Given the description of an element on the screen output the (x, y) to click on. 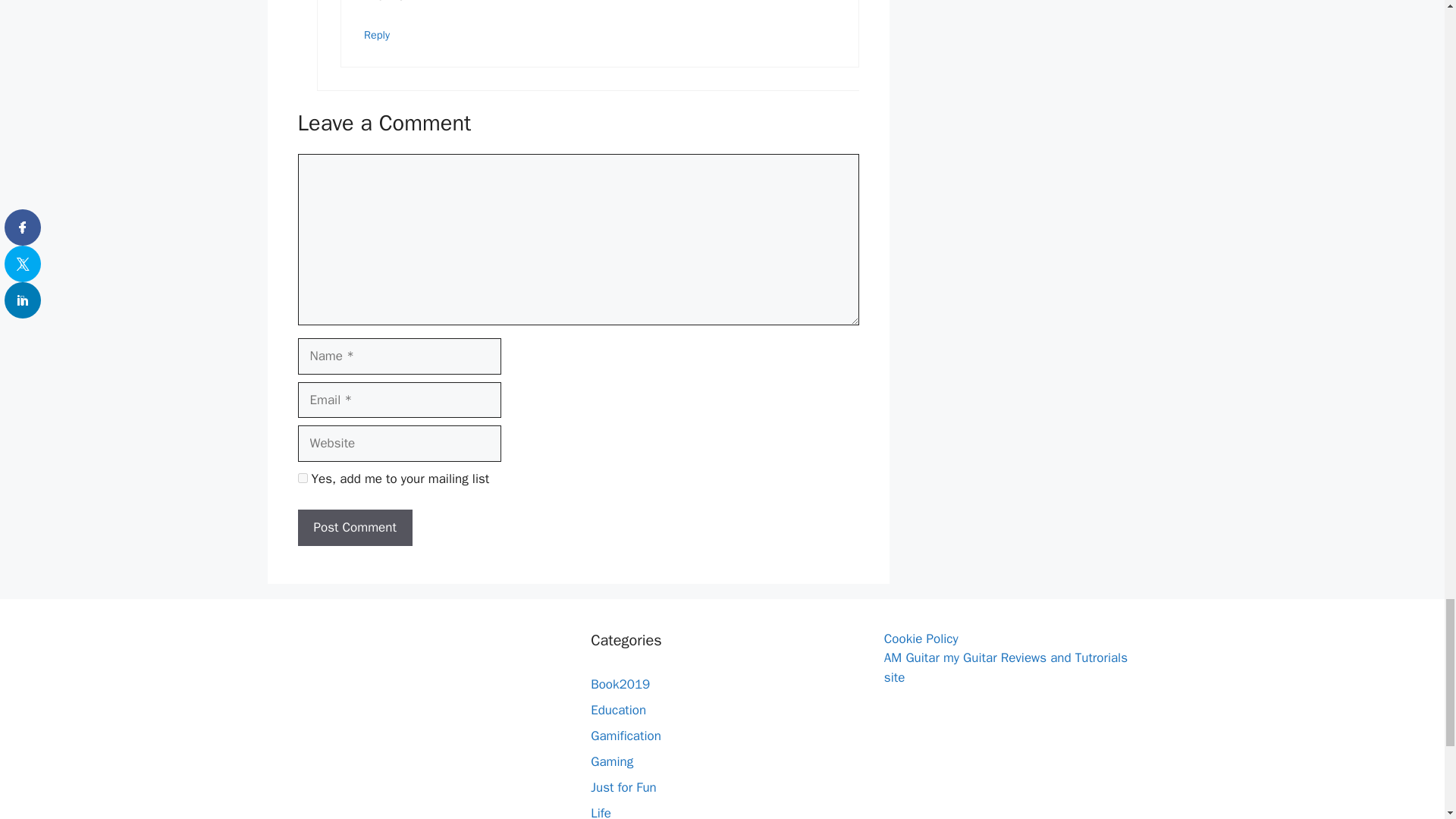
1 (302, 478)
Post Comment (354, 527)
